Given the description of an element on the screen output the (x, y) to click on. 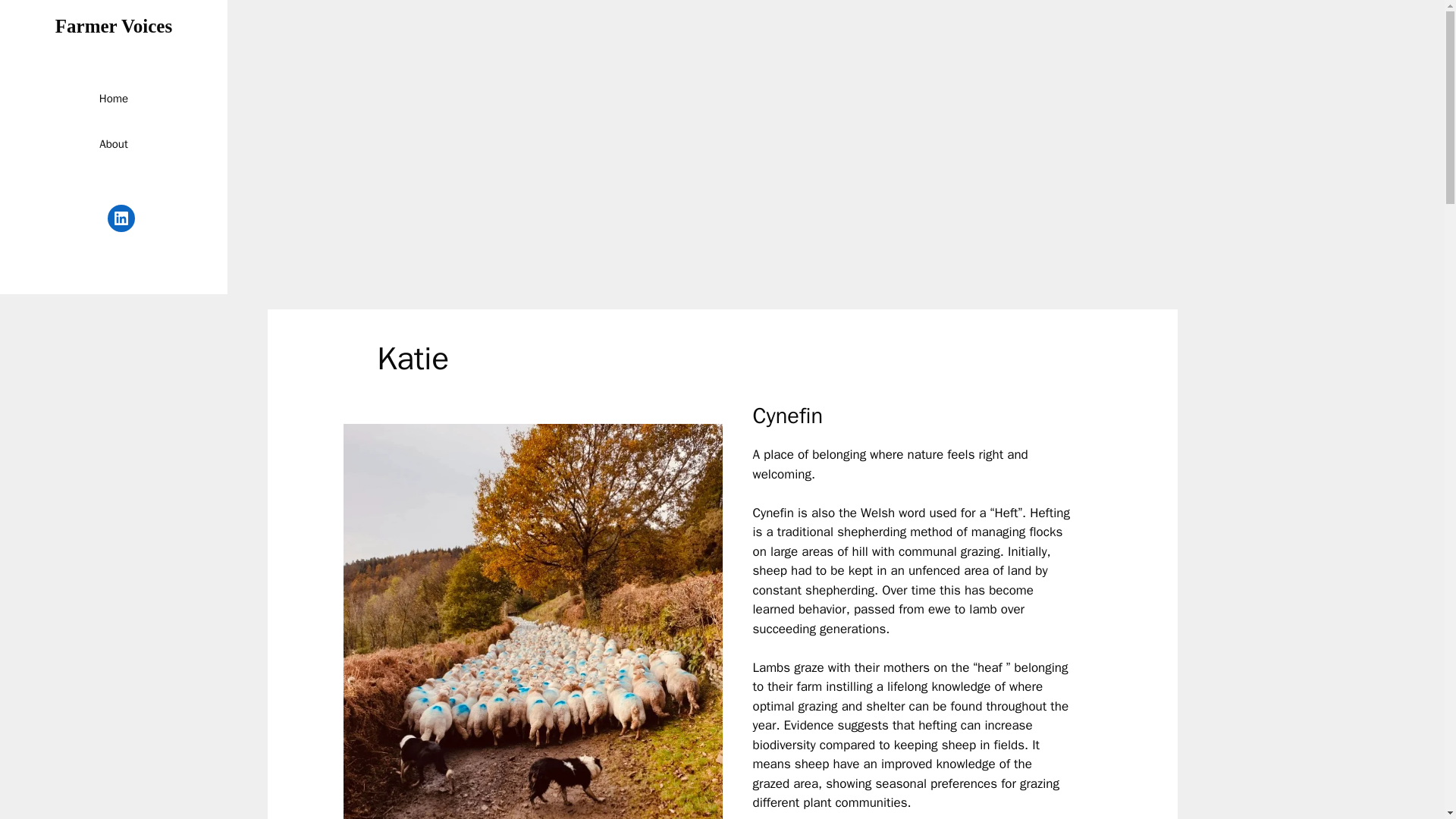
Home (113, 98)
LinkedIn (121, 217)
Farmer Voices (113, 25)
About (113, 144)
